Given the description of an element on the screen output the (x, y) to click on. 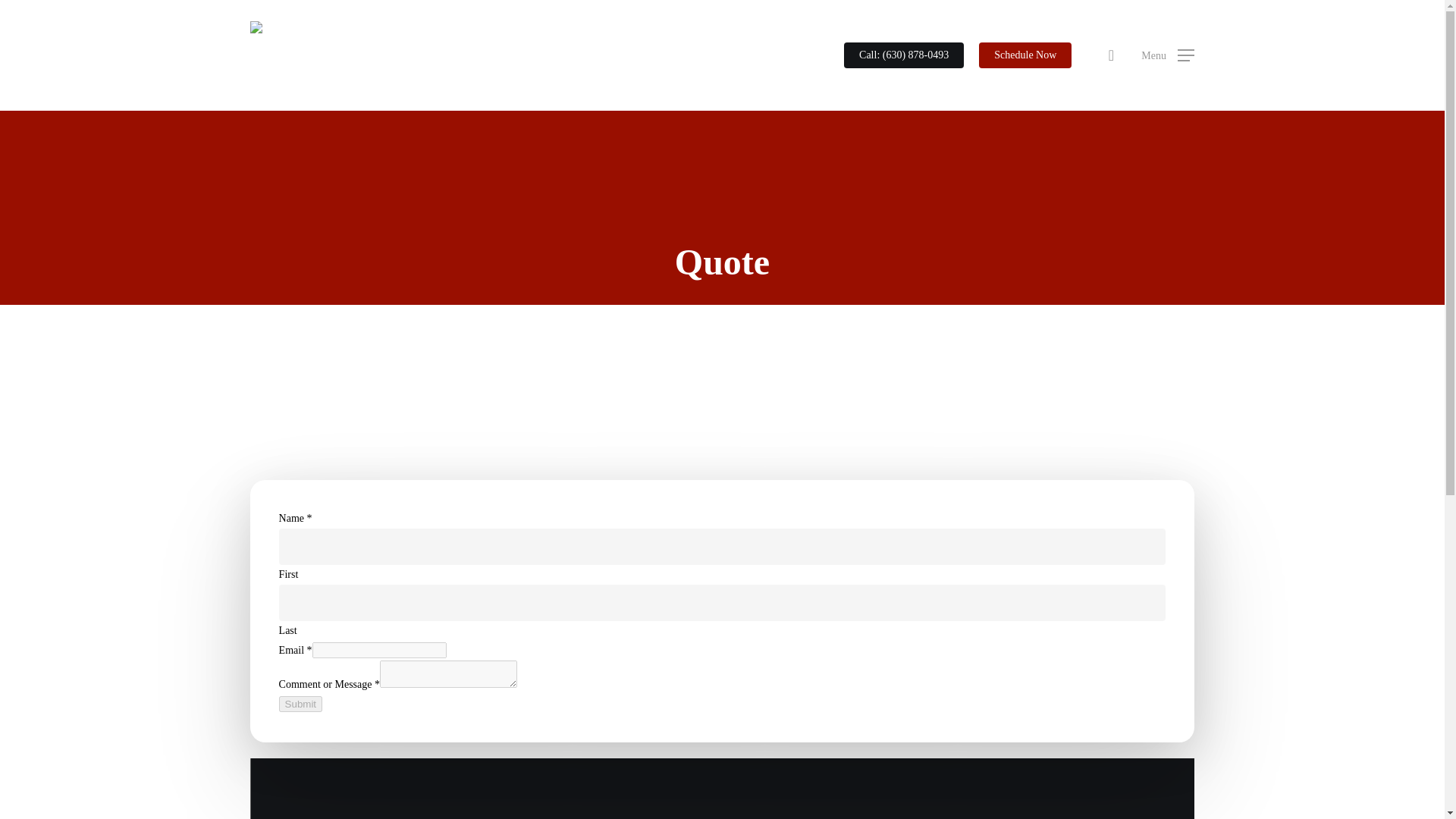
Schedule Now (1024, 55)
Menu (1167, 54)
Submit (300, 703)
search (1110, 54)
